Given the description of an element on the screen output the (x, y) to click on. 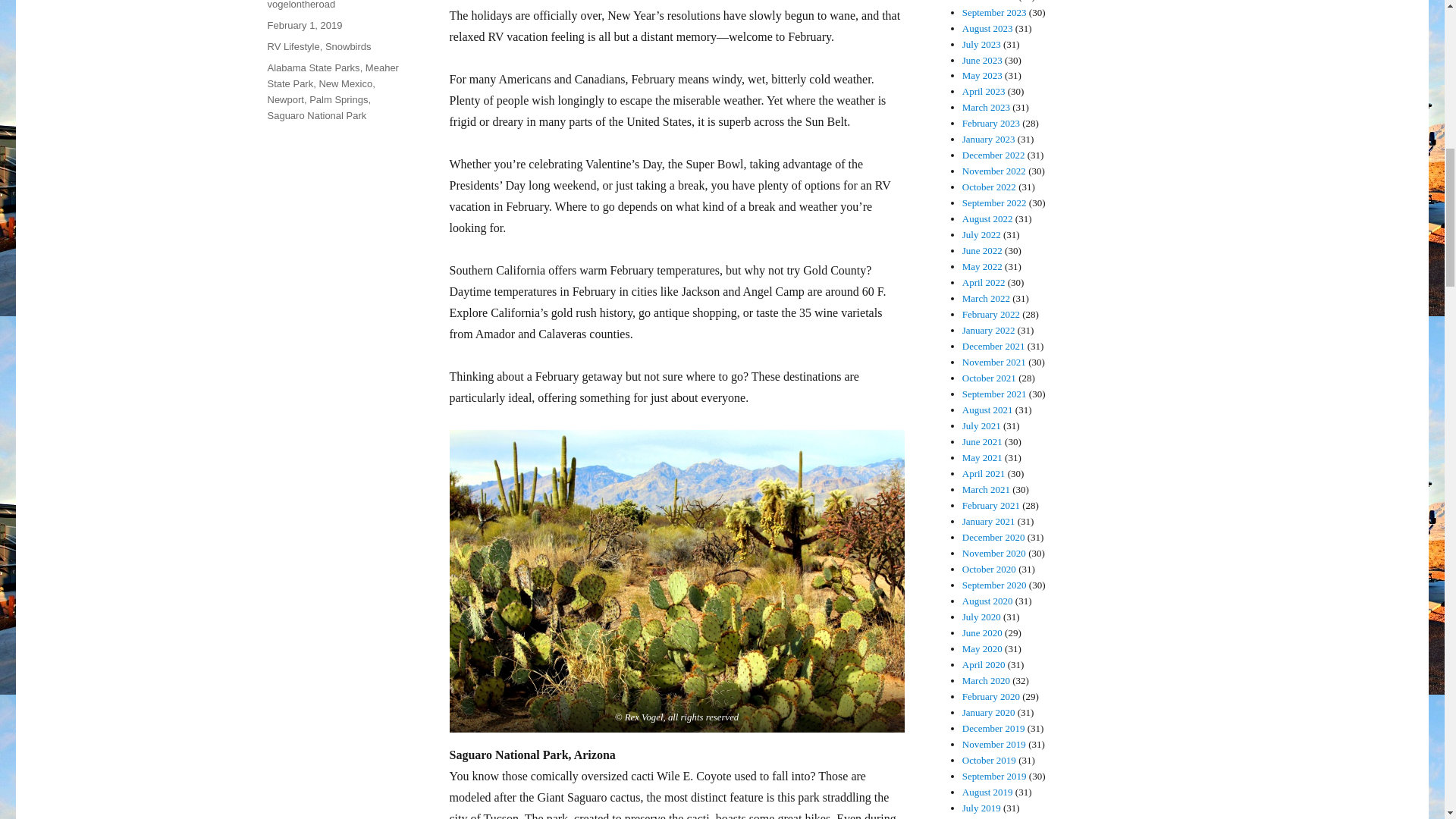
Alabama State Parks (312, 67)
Palm Springs (338, 99)
Snowbirds (347, 46)
RV Lifestyle (292, 46)
Newport (284, 99)
October 2023 (989, 1)
August 2023 (987, 28)
Saguaro National Park (316, 115)
September 2023 (994, 12)
New Mexico (345, 83)
